Given the description of an element on the screen output the (x, y) to click on. 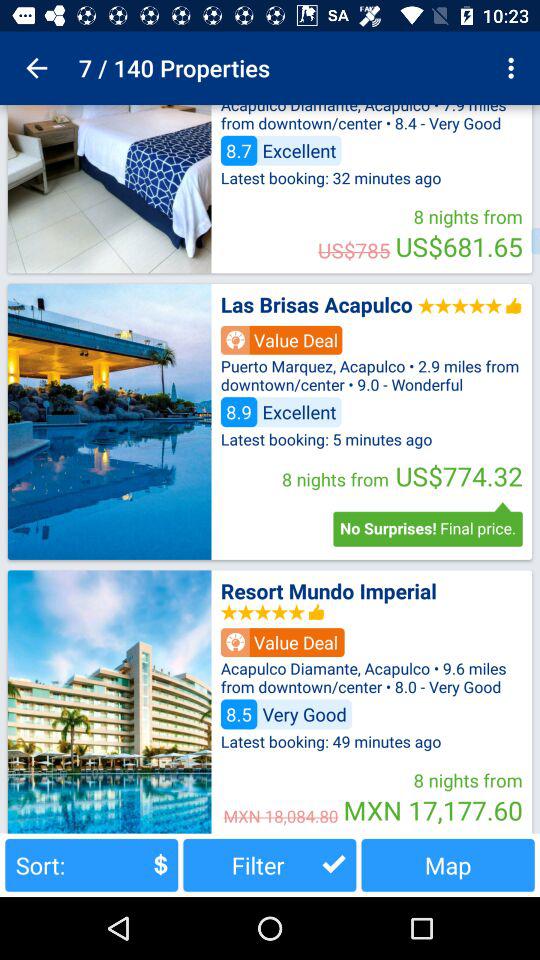
view images of villa (109, 421)
